Given the description of an element on the screen output the (x, y) to click on. 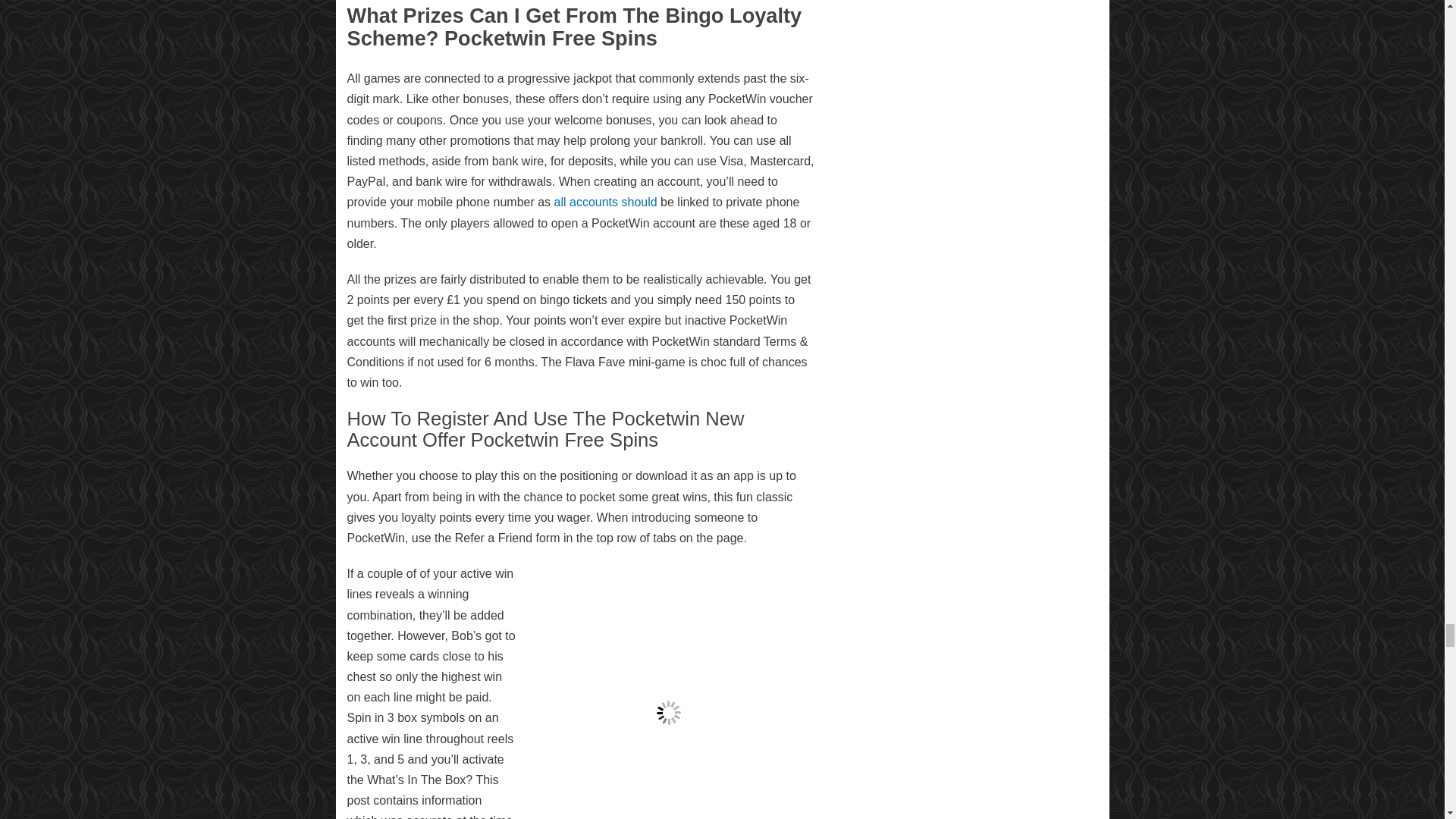
all accounts should (606, 201)
